Given the description of an element on the screen output the (x, y) to click on. 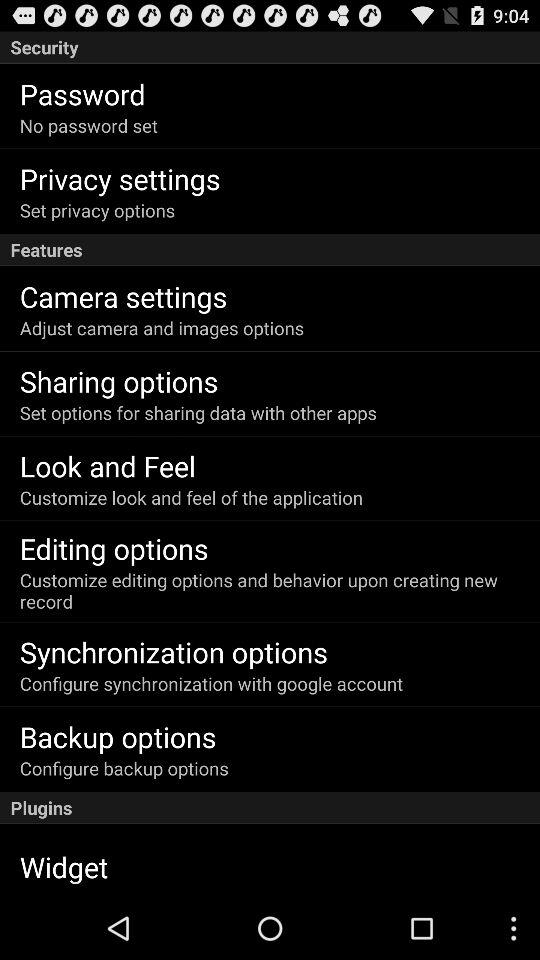
turn off widget item (63, 866)
